Given the description of an element on the screen output the (x, y) to click on. 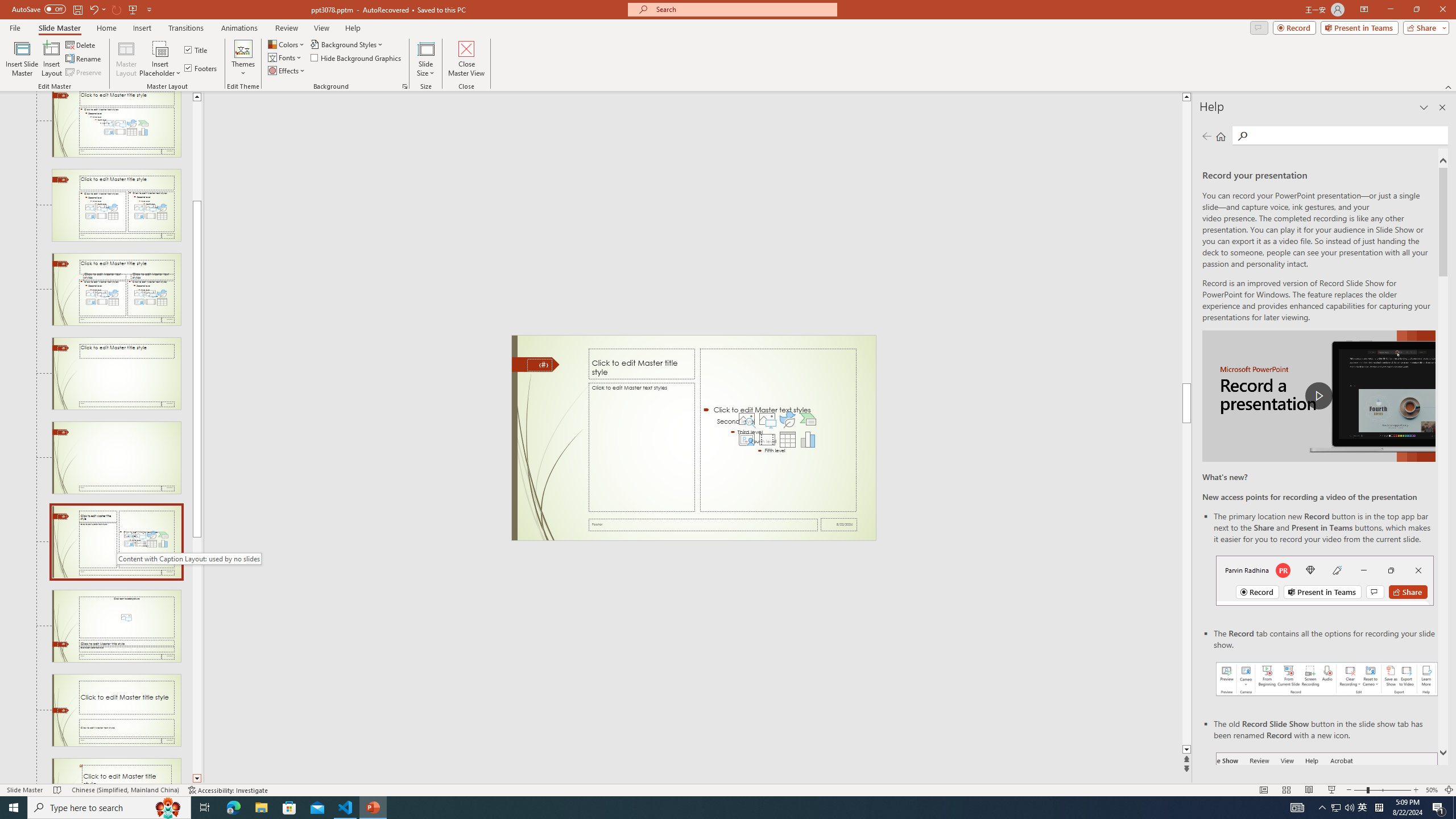
Content Placeholder (778, 429)
Insert Slide Master (21, 58)
Insert an Icon (787, 419)
Pictures (767, 419)
Themes (243, 58)
Insert Video (767, 439)
Insert a SmartArt Graphic (807, 419)
Insert Layout (51, 58)
Freeform 11 (535, 364)
